Given the description of an element on the screen output the (x, y) to click on. 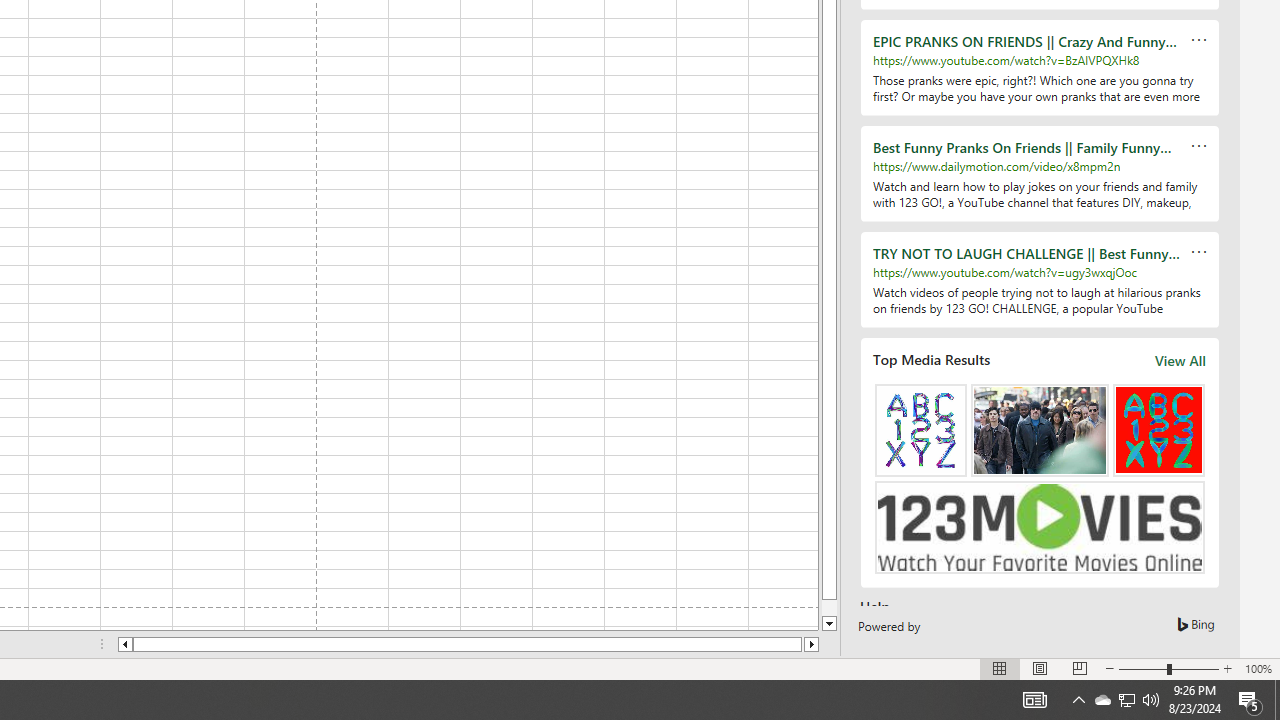
AutomationID: 4105 (1034, 699)
Action Center, 5 new notifications (1250, 699)
